Given the description of an element on the screen output the (x, y) to click on. 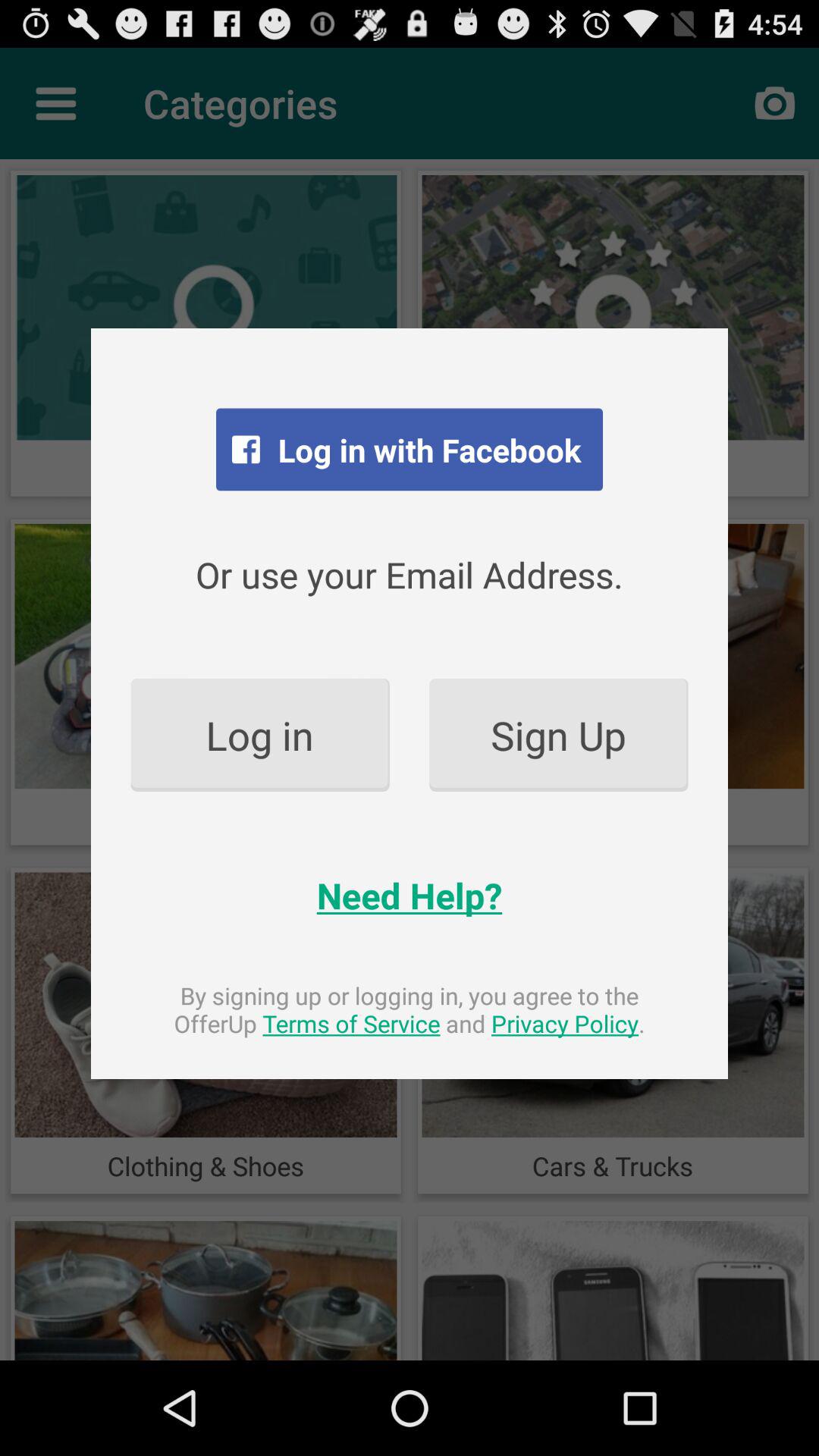
choose the item next to the log in item (558, 734)
